Given the description of an element on the screen output the (x, y) to click on. 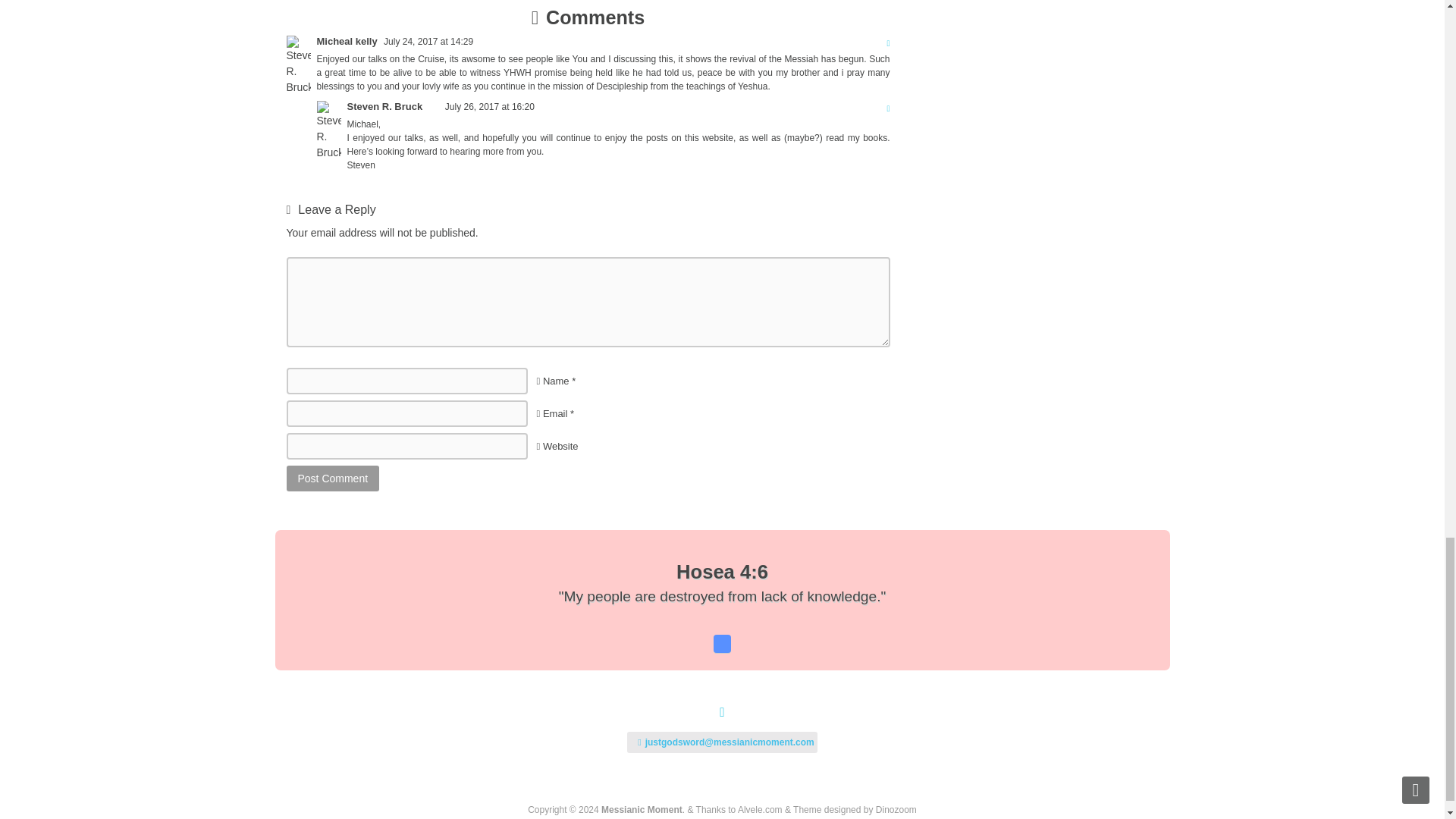
Messianic Moment (641, 809)
WordPress Themes (896, 809)
Post Comment (333, 478)
